Given the description of an element on the screen output the (x, y) to click on. 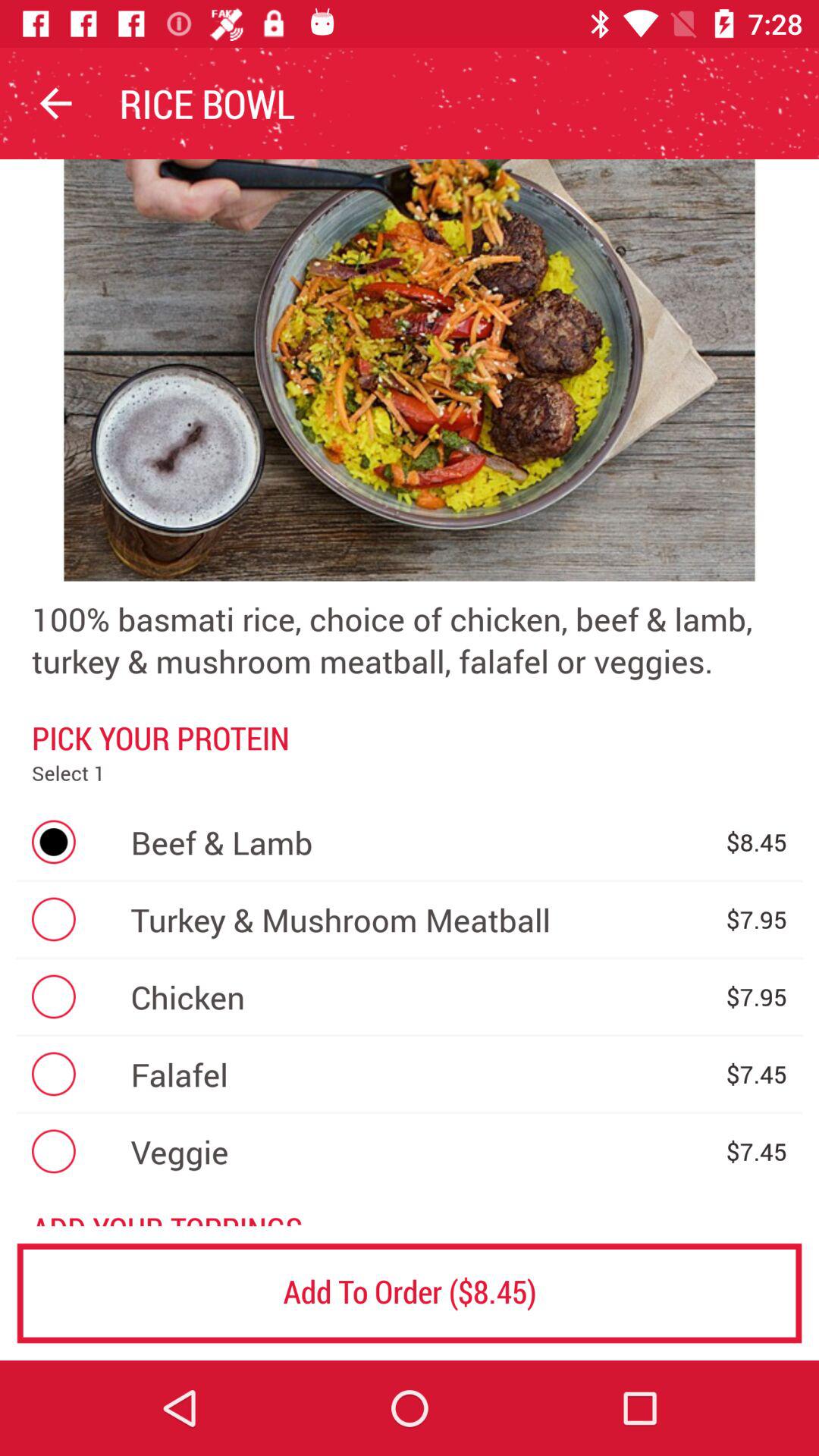
choose item to the left of rice bowl app (55, 103)
